Given the description of an element on the screen output the (x, y) to click on. 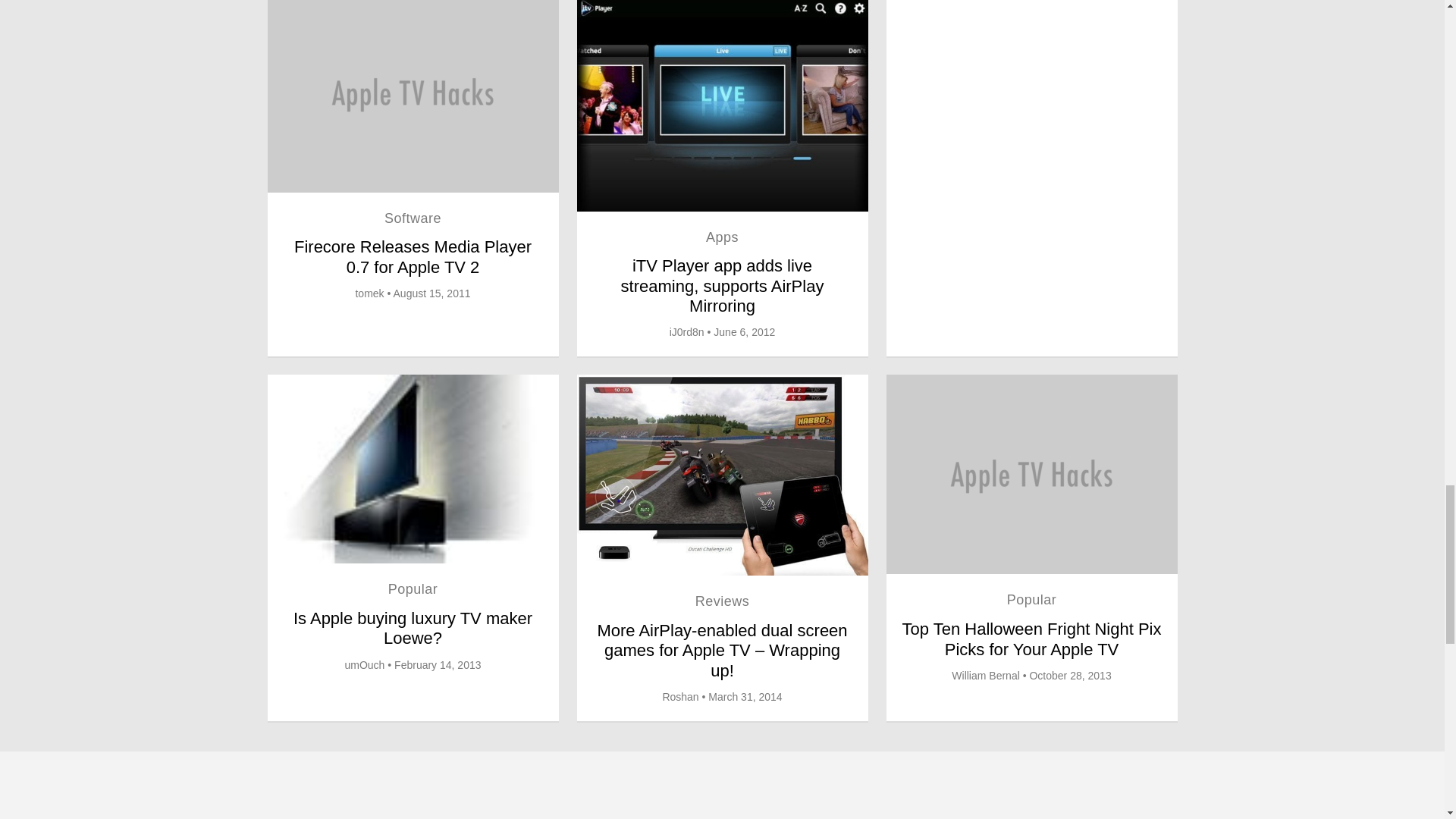
Software (412, 218)
Apps (722, 236)
Posts by Roshan (680, 696)
Reviews (722, 601)
Posts by iJ0rd8n (686, 331)
Posts by umOuch (363, 664)
Popular (1032, 599)
Posts by tomek (369, 293)
Popular (413, 589)
